Given the description of an element on the screen output the (x, y) to click on. 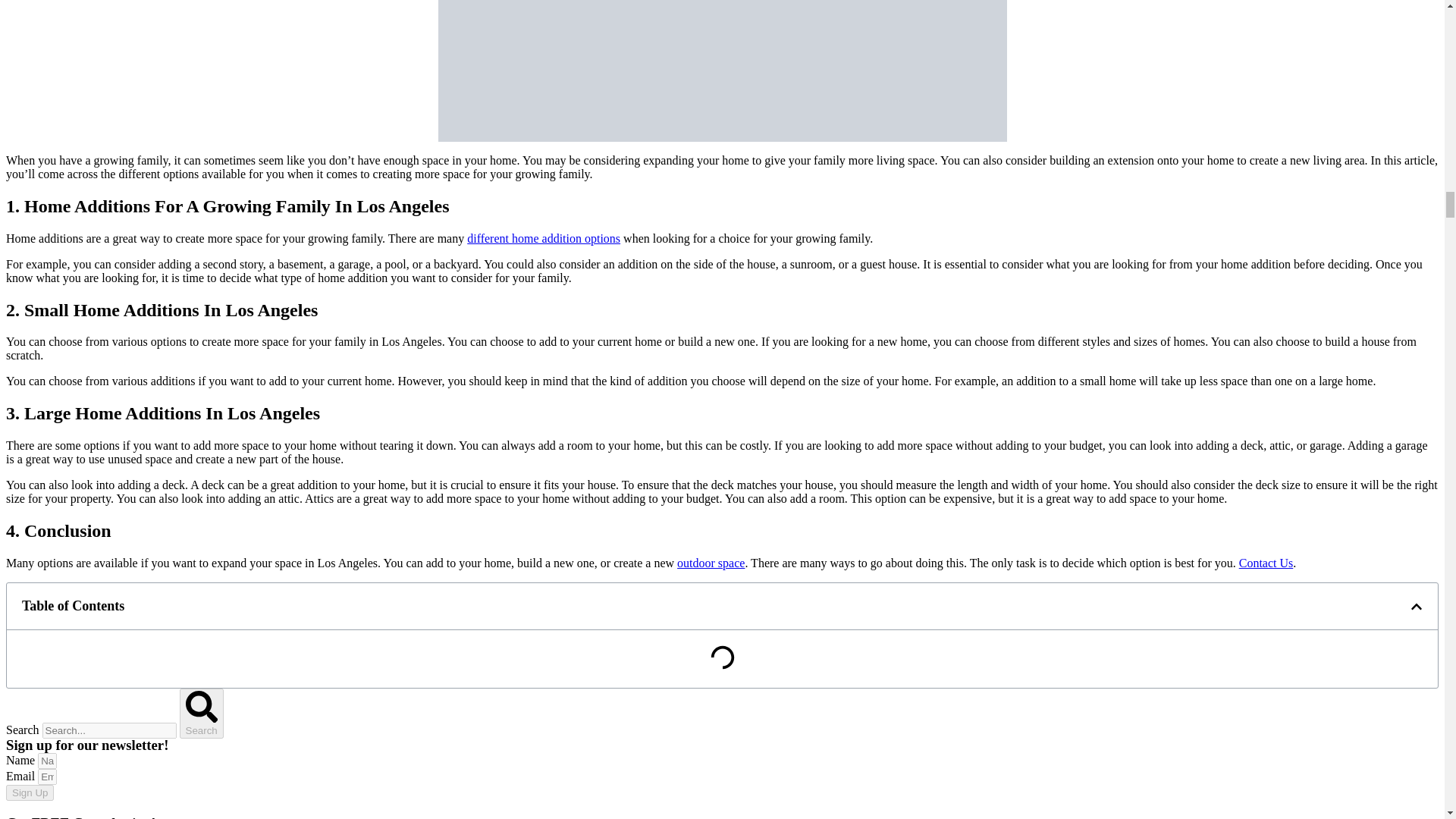
Contact Us (1266, 562)
Sign Up (29, 792)
different home addition options (543, 237)
outdoor space (710, 562)
